Given the description of an element on the screen output the (x, y) to click on. 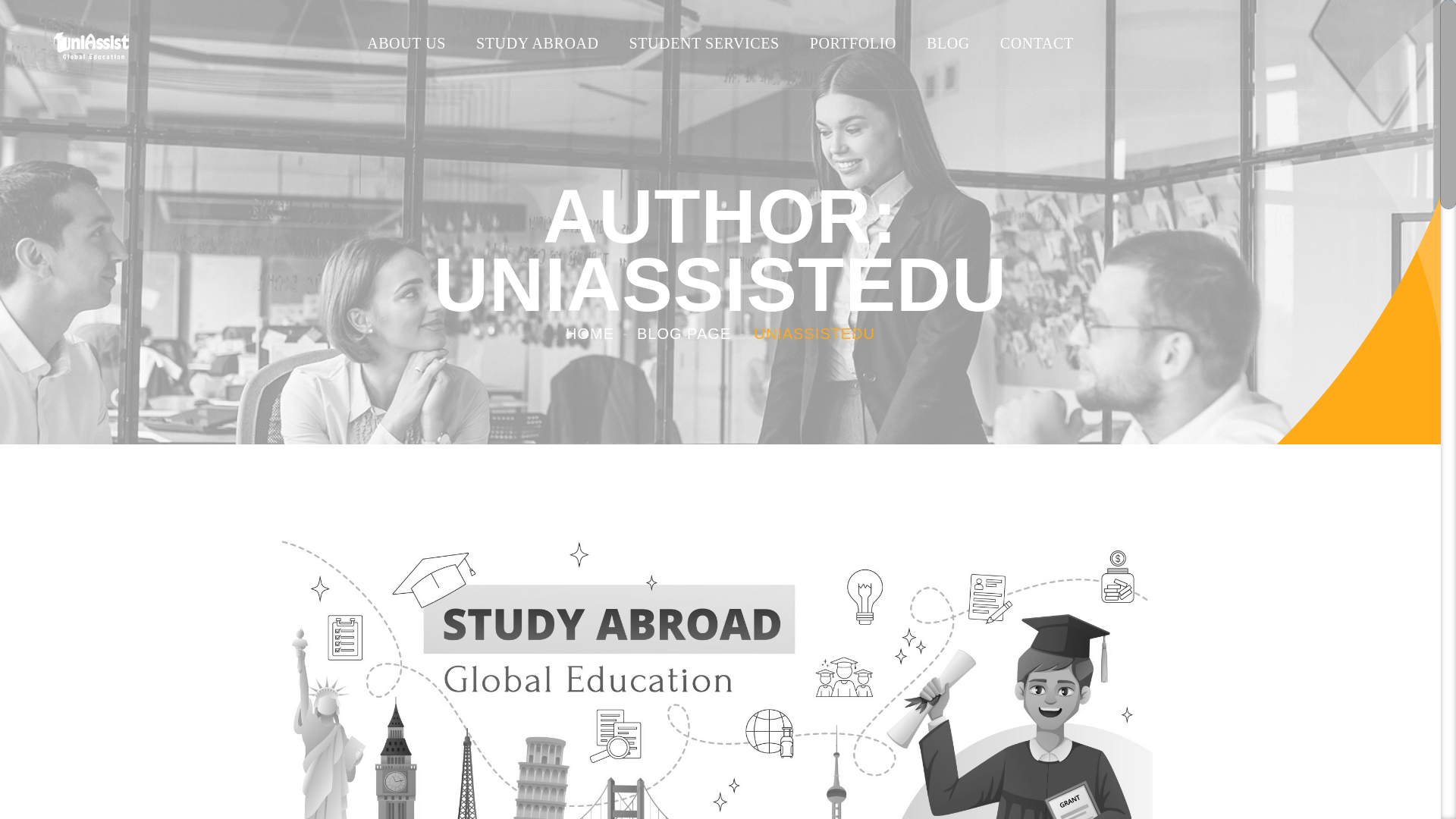
BLOG (947, 42)
ABOUT US (405, 42)
CONTACT (1037, 42)
STUDENT SERVICES (703, 42)
PORTFOLIO (852, 42)
STUDY ABROAD (537, 42)
